Given the description of an element on the screen output the (x, y) to click on. 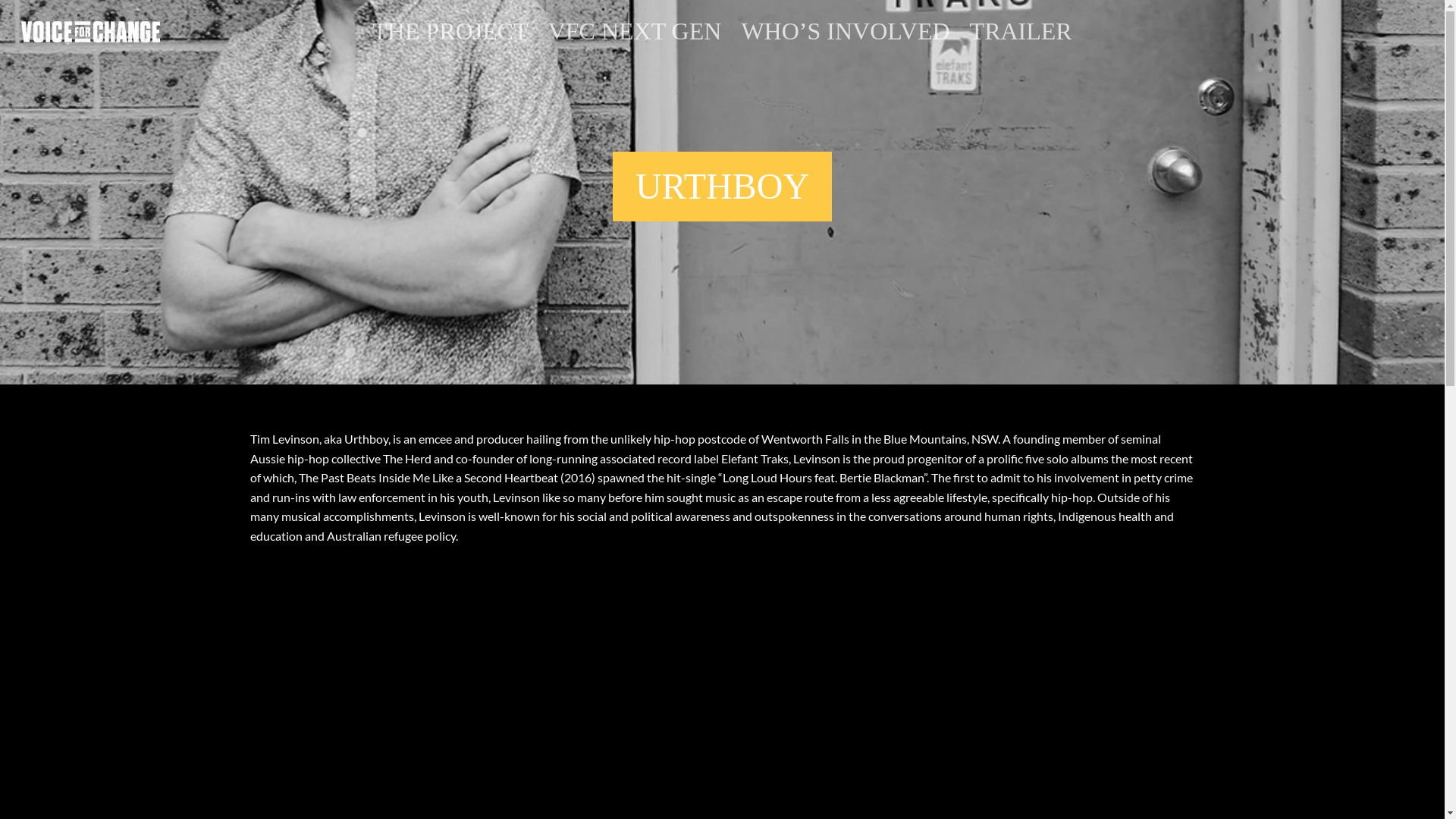
VFC NEXT GEN Element type: text (634, 41)
THE PROJECT Element type: text (449, 41)
TRAILER Element type: text (1020, 41)
